Given the description of an element on the screen output the (x, y) to click on. 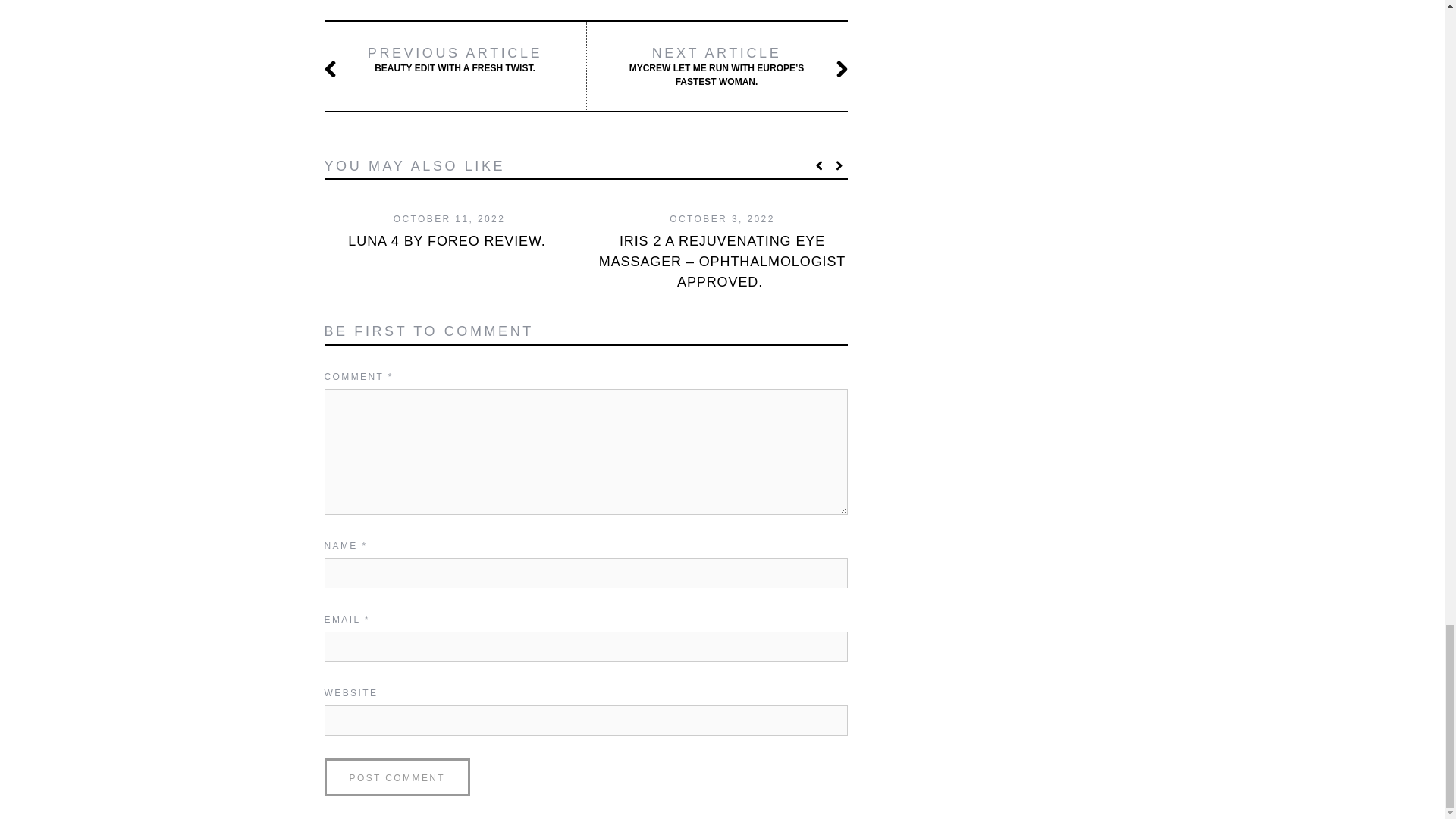
Post Comment (397, 777)
LUNA 4 BY FOREO REVIEW.  (454, 60)
